Given the description of an element on the screen output the (x, y) to click on. 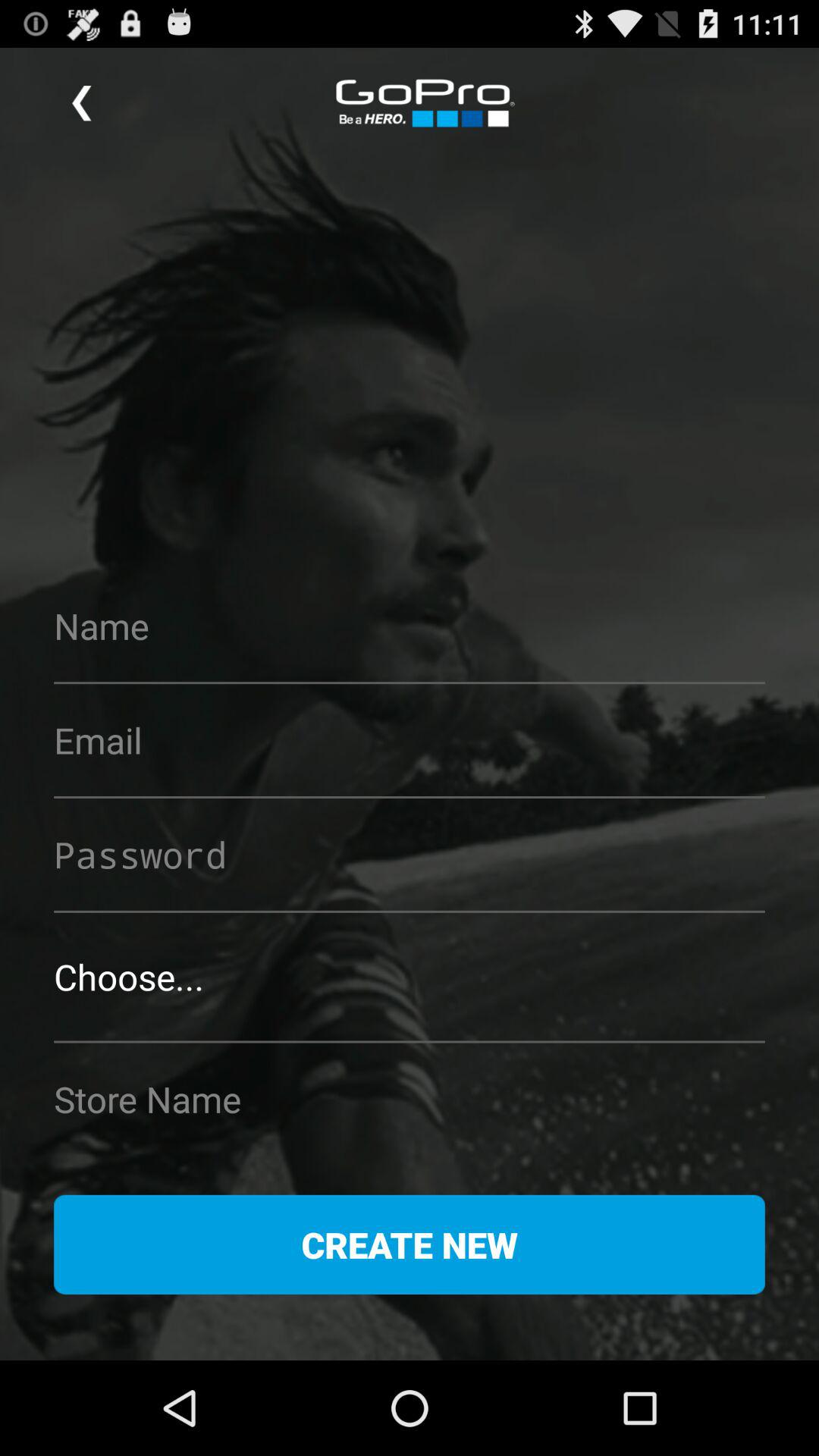
enter your name (409, 625)
